Given the description of an element on the screen output the (x, y) to click on. 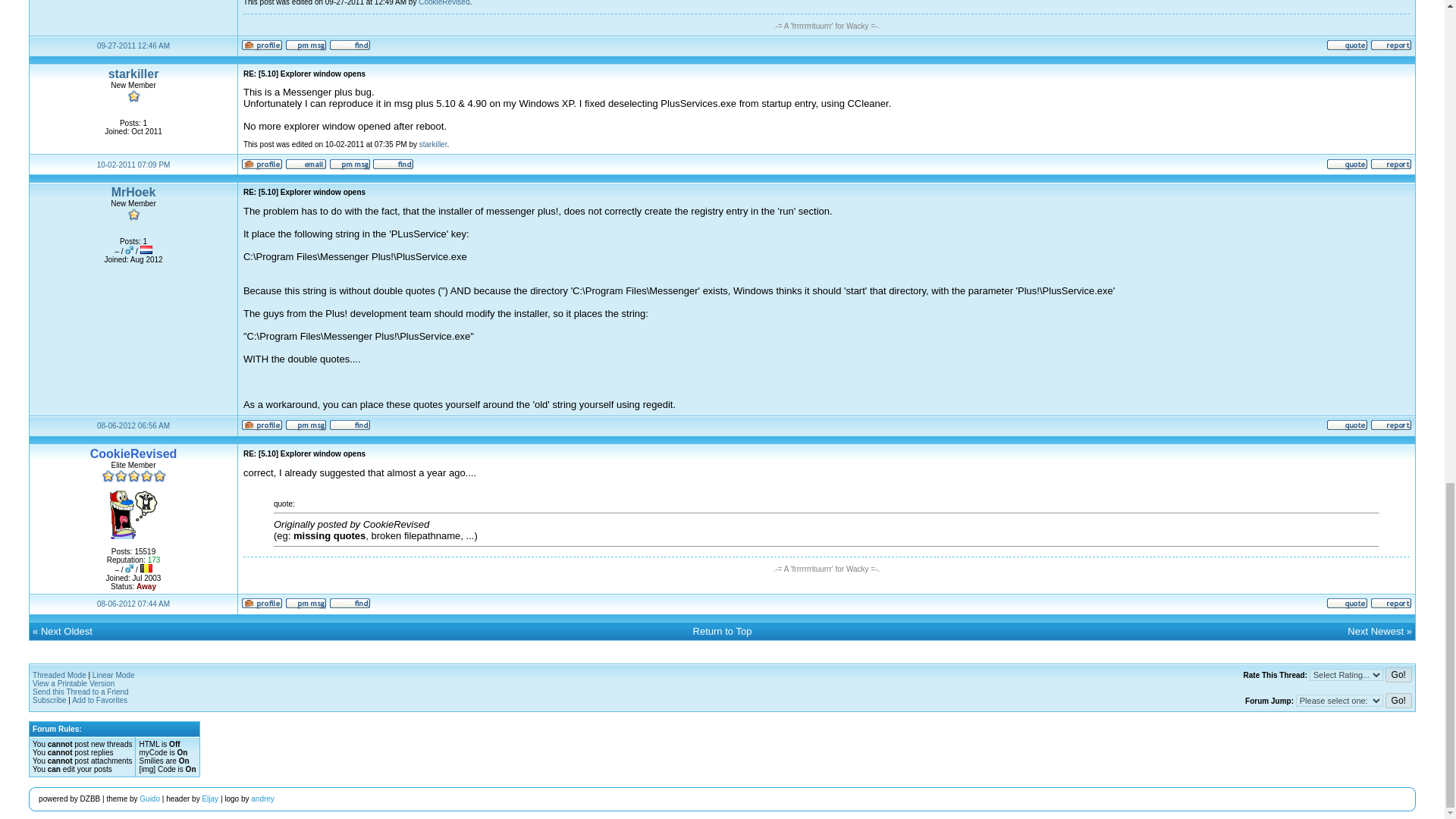
Report this post to the forum Moderators (1391, 48)
Poster's local time: 07:09 PM (133, 164)
Go! (1399, 700)
Go! (1399, 674)
Report this post to the forum Moderators (1391, 166)
Poster's local time: 02:46 AM (133, 45)
